Given the description of an element on the screen output the (x, y) to click on. 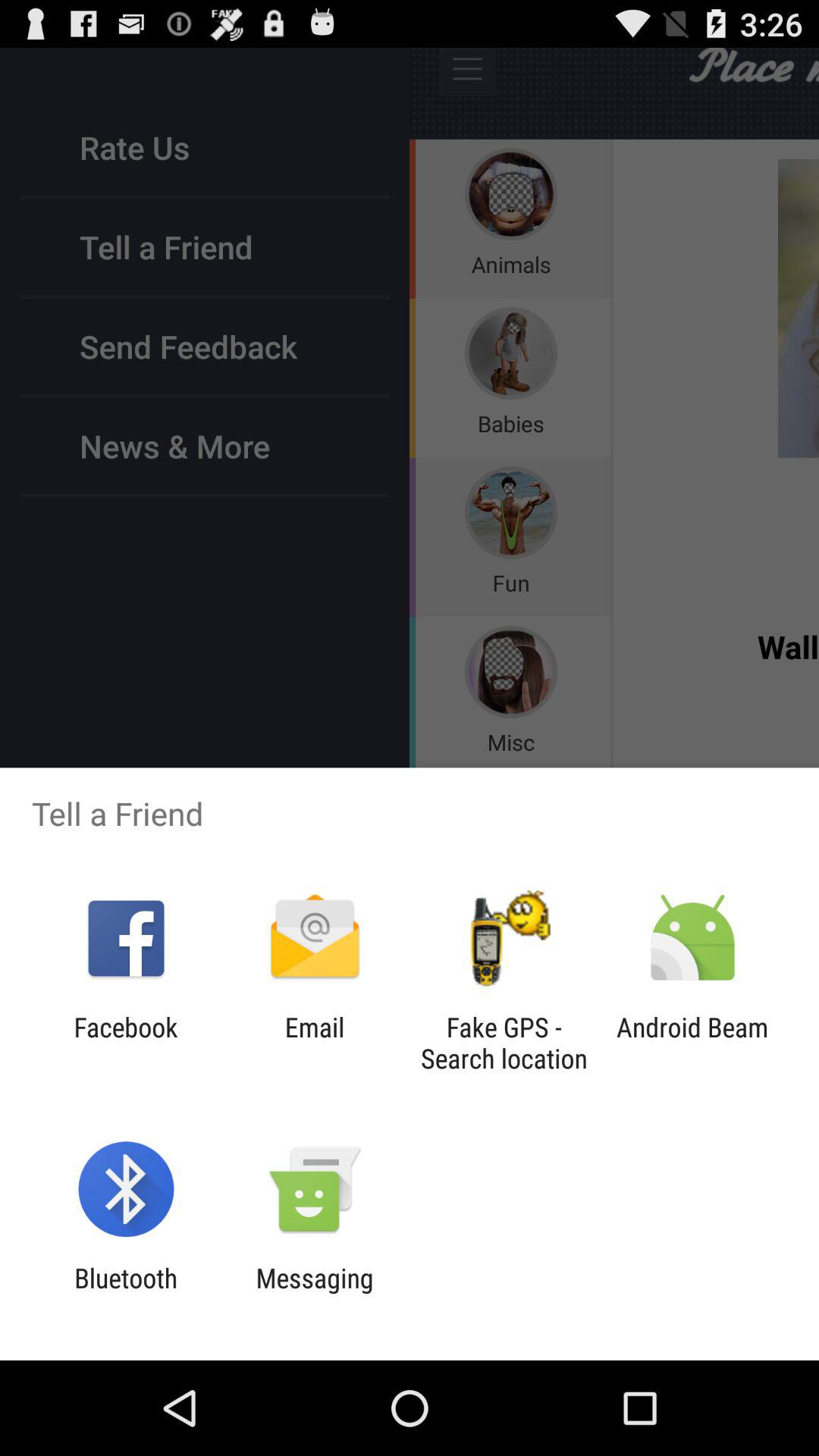
jump until the facebook icon (125, 1042)
